Given the description of an element on the screen output the (x, y) to click on. 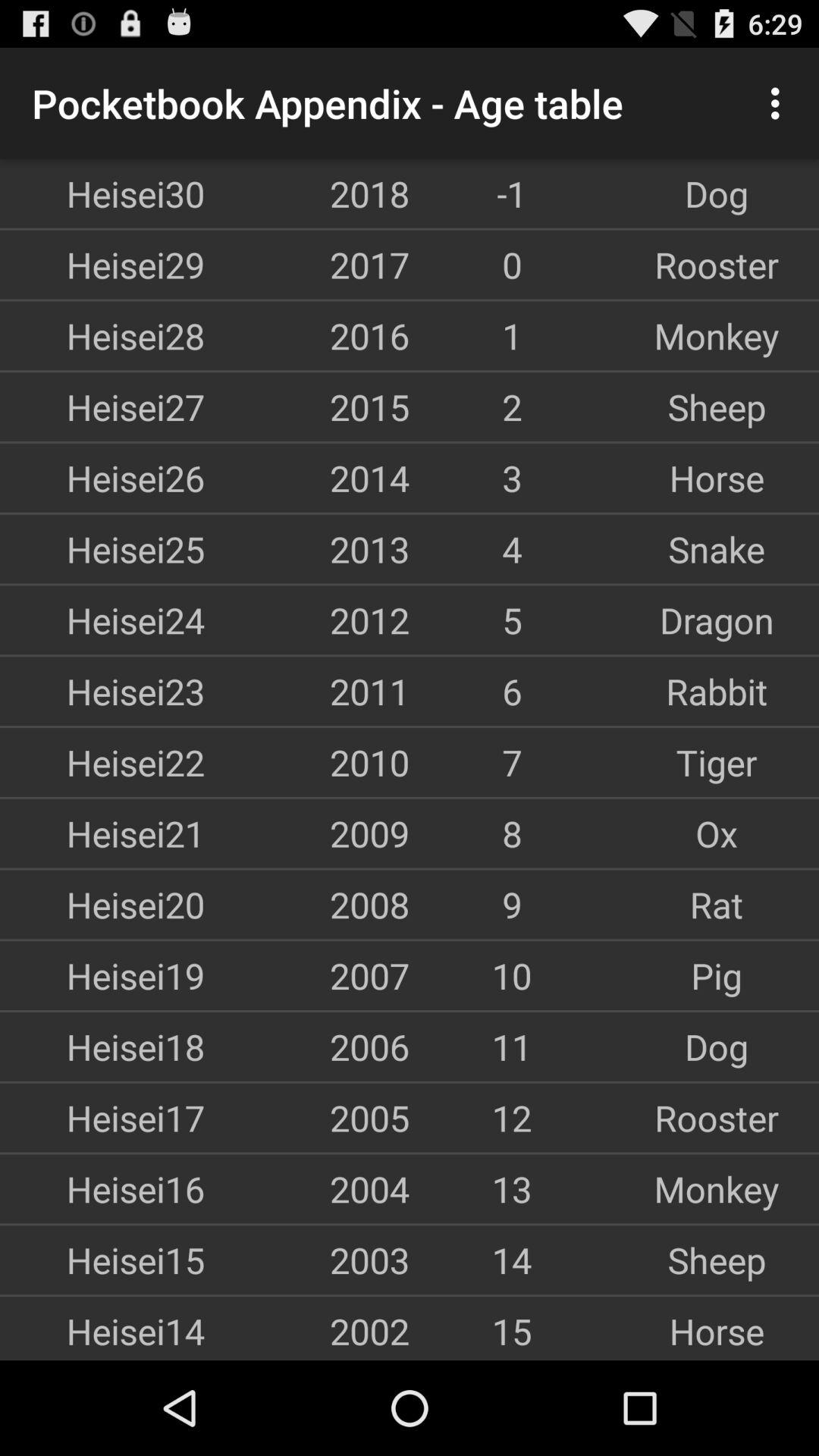
click icon below 5 app (716, 691)
